Given the description of an element on the screen output the (x, y) to click on. 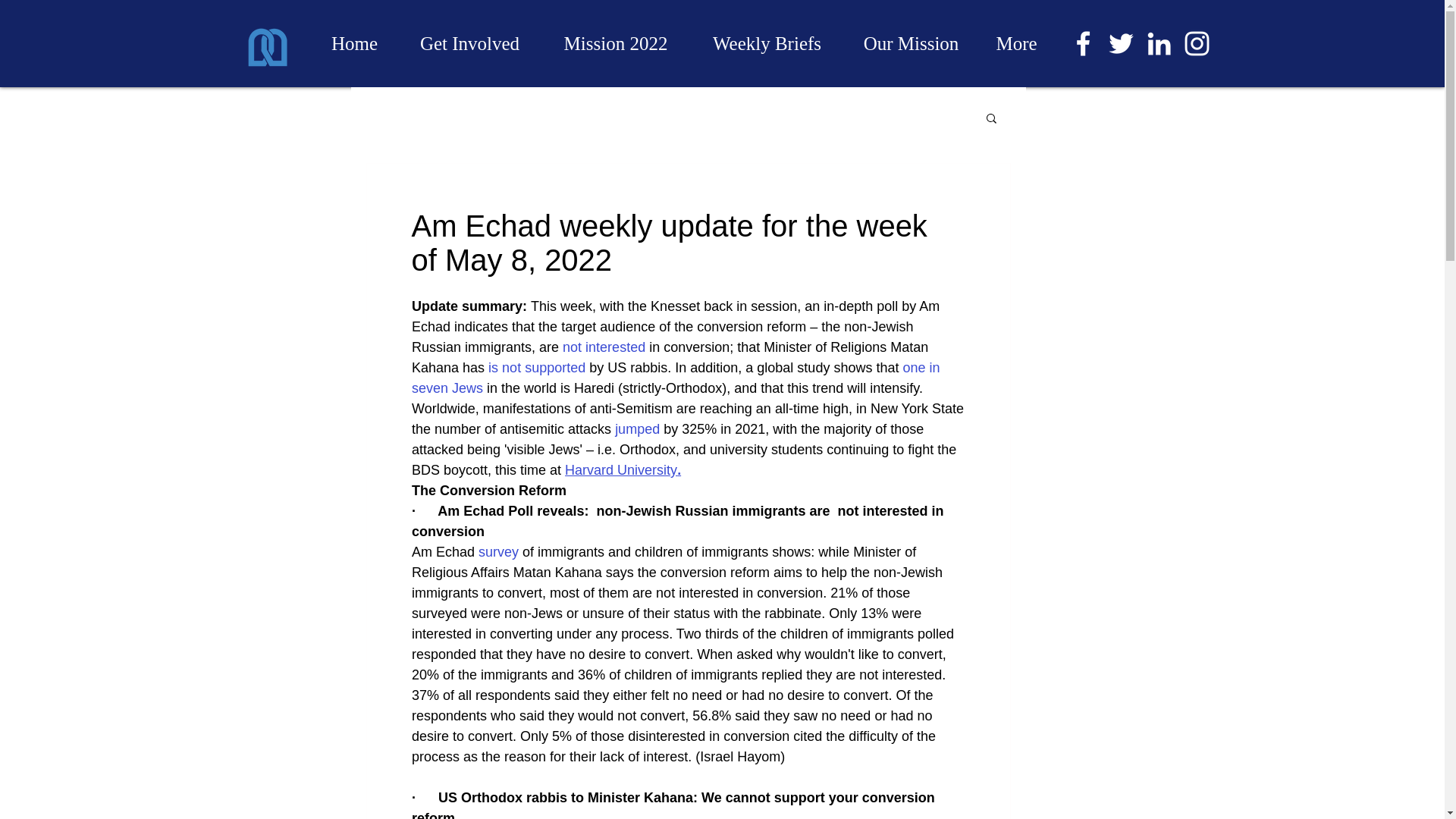
Harvard University (620, 469)
Home (354, 43)
one in seven Jews (676, 377)
Get Involved (469, 43)
jumped (636, 428)
Mission 2022 (614, 43)
no (509, 367)
not interested (603, 346)
survey (498, 551)
Weekly Briefs (767, 43)
Our Mission (911, 43)
